Given the description of an element on the screen output the (x, y) to click on. 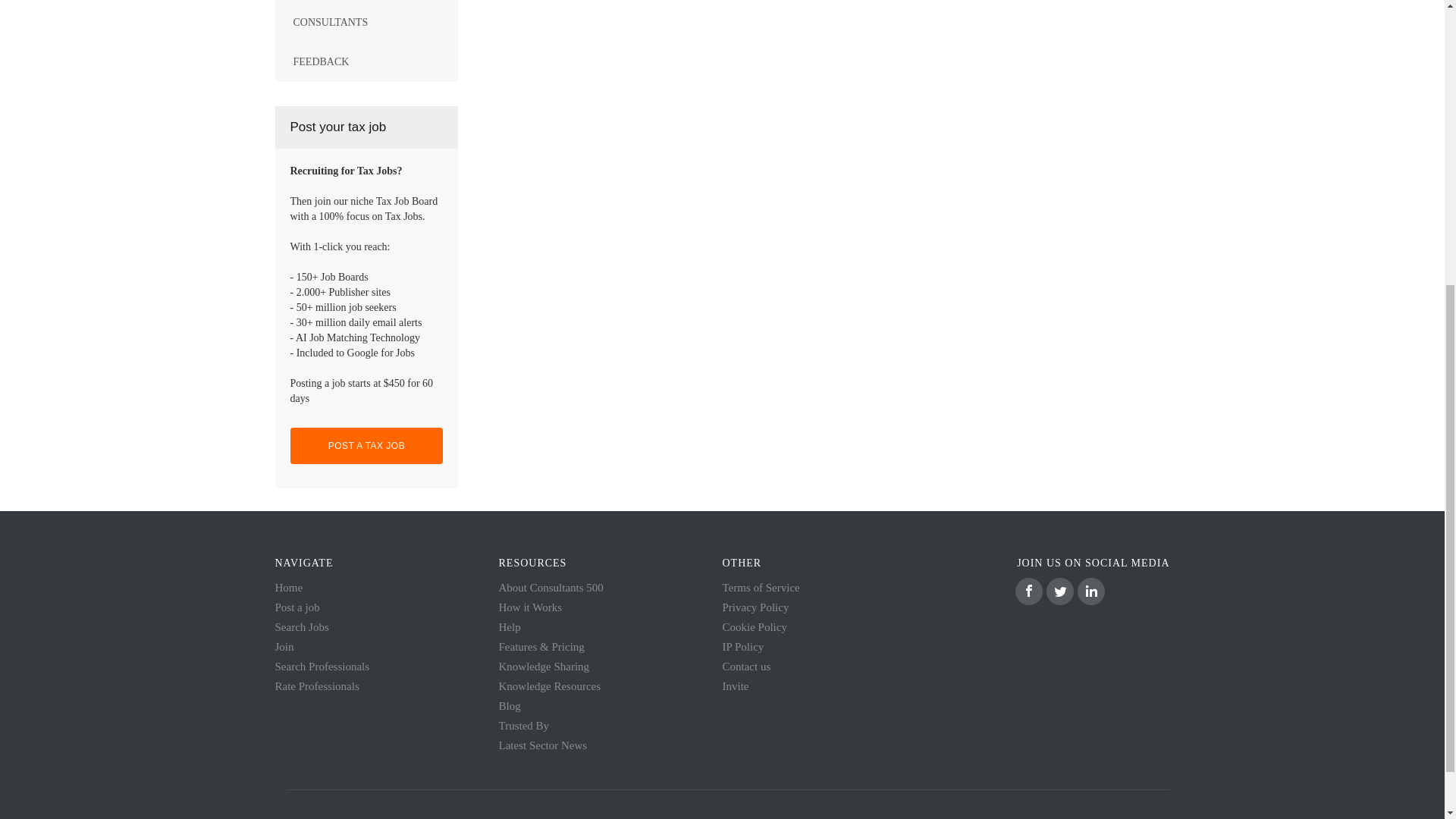
Join (284, 646)
FEEDBACK (366, 61)
Trusted By (524, 725)
Knowledge Resources (550, 686)
Terms of Service (760, 587)
Home (288, 587)
Blog (510, 705)
Search Professionals (322, 666)
Knowledge Sharing (544, 666)
Privacy Policy (755, 607)
How it Works (530, 607)
Cookie Policy (754, 626)
Search Jobs (302, 626)
Rate Professionals (316, 686)
Latest Sector News (543, 745)
